Given the description of an element on the screen output the (x, y) to click on. 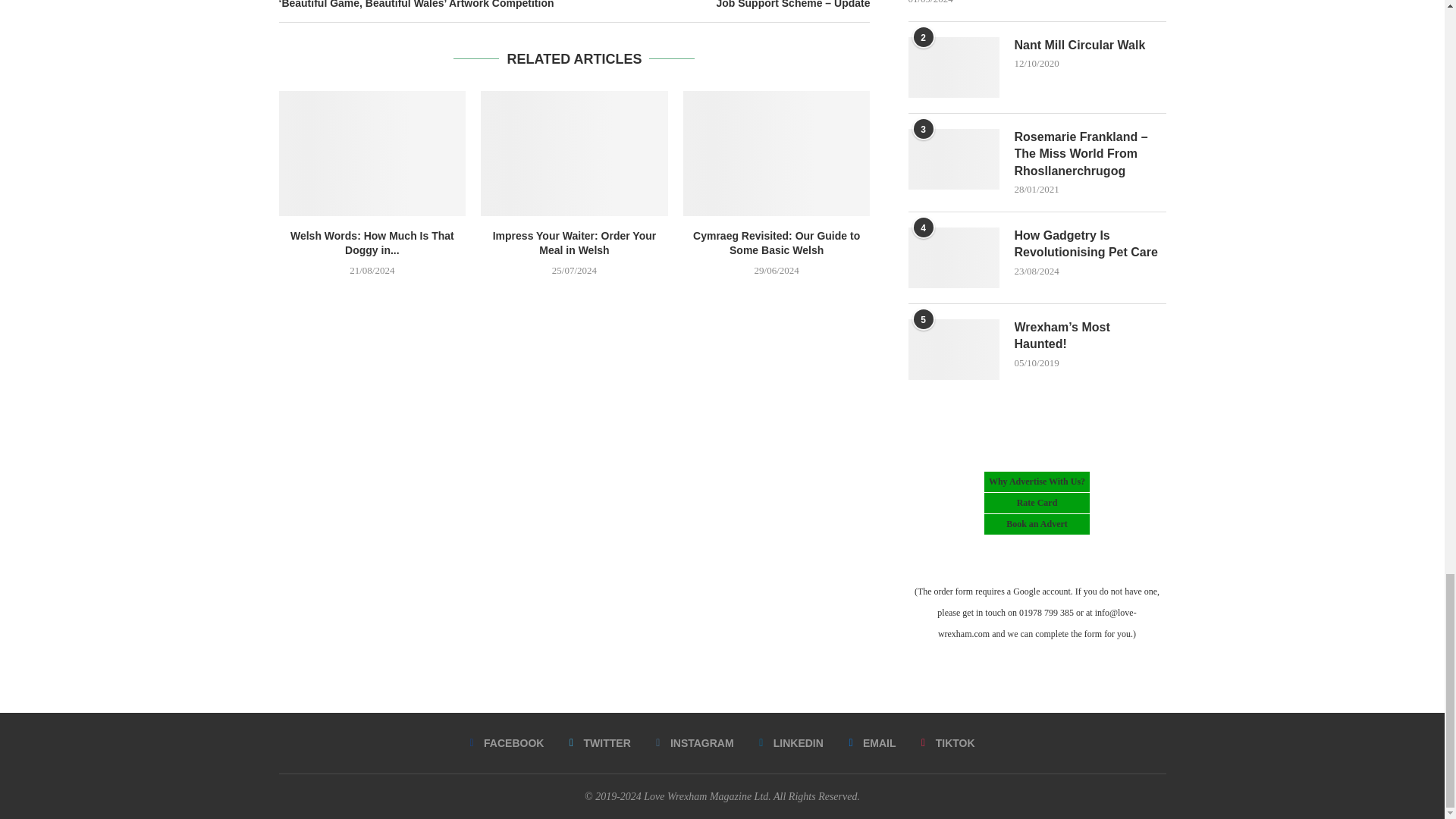
Cymraeg Revisited: Our Guide to Some Basic Welsh (776, 152)
Welsh Words: How Much Is That Doggy in the Window? (372, 152)
Impress Your Waiter: Order Your Meal in Welsh (574, 152)
